Given the description of an element on the screen output the (x, y) to click on. 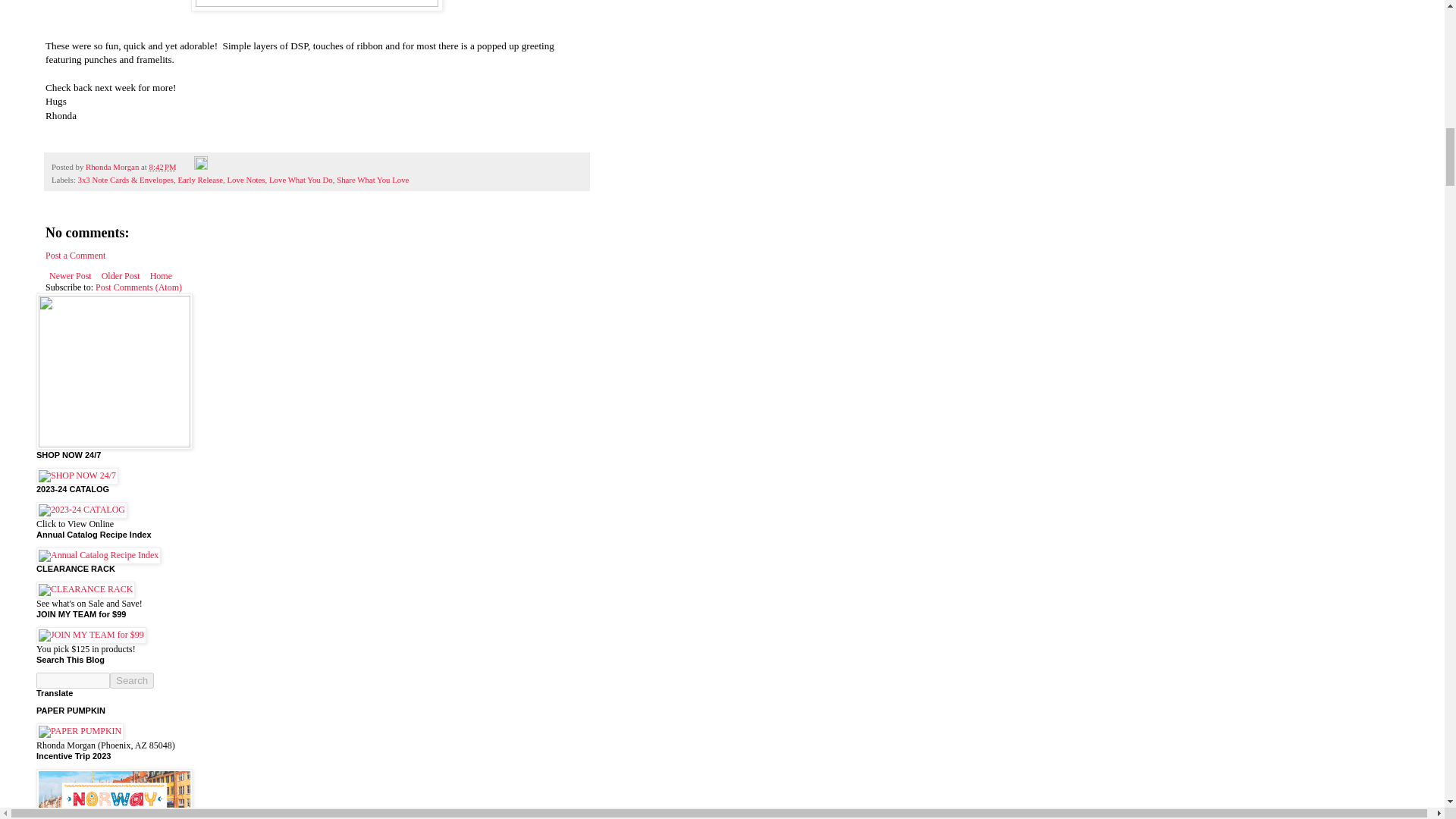
Older Post (120, 275)
permanent link (162, 166)
Newer Post (70, 275)
author profile (113, 166)
Search (132, 680)
Love What You Do (301, 179)
Older Post (120, 275)
Share What You Love (372, 179)
Search (132, 680)
Search (132, 680)
Newer Post (70, 275)
Edit Post (200, 166)
Post a Comment (74, 255)
Early Release (199, 179)
search (132, 680)
